Given the description of an element on the screen output the (x, y) to click on. 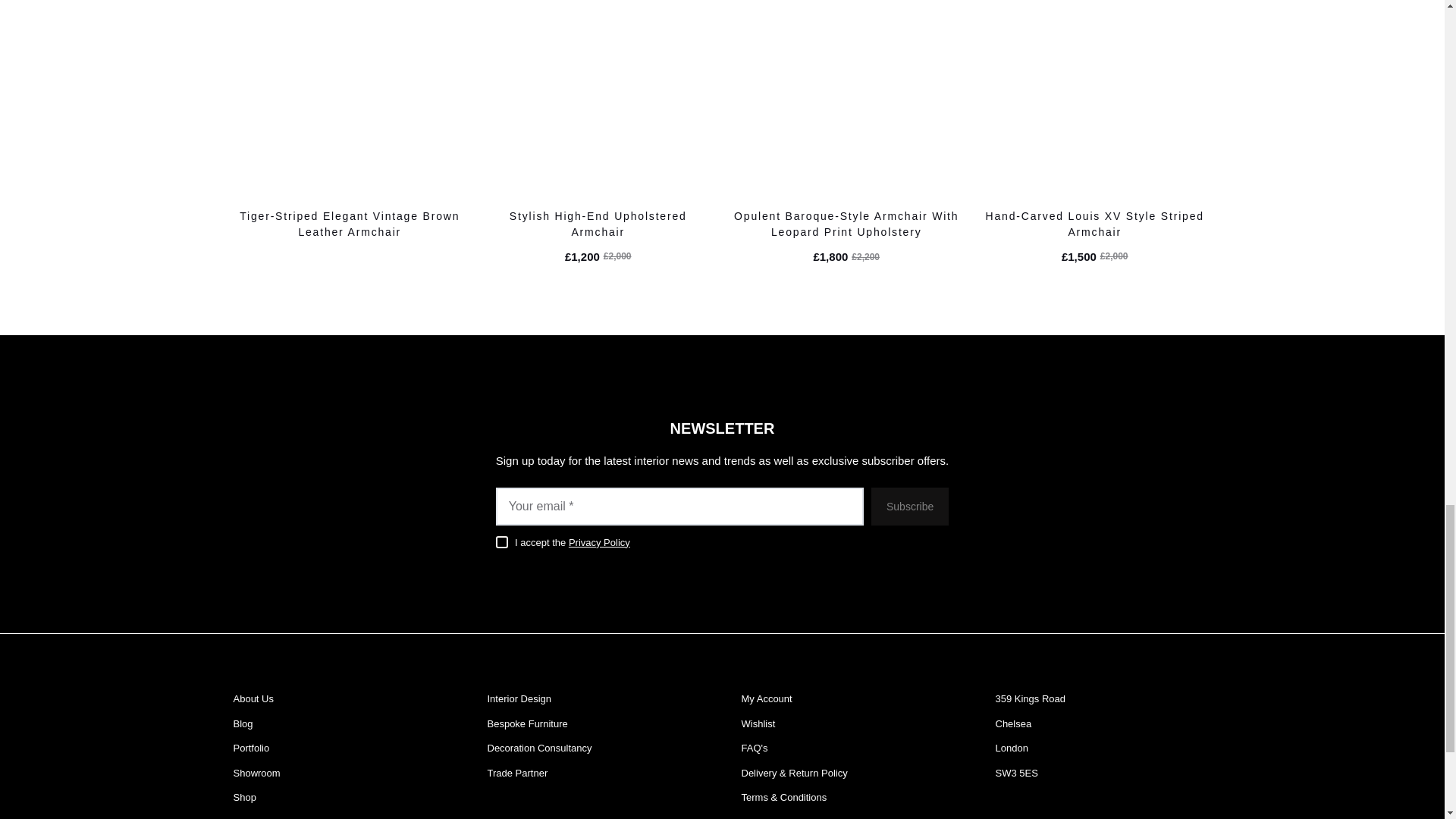
on (502, 541)
